Given the description of an element on the screen output the (x, y) to click on. 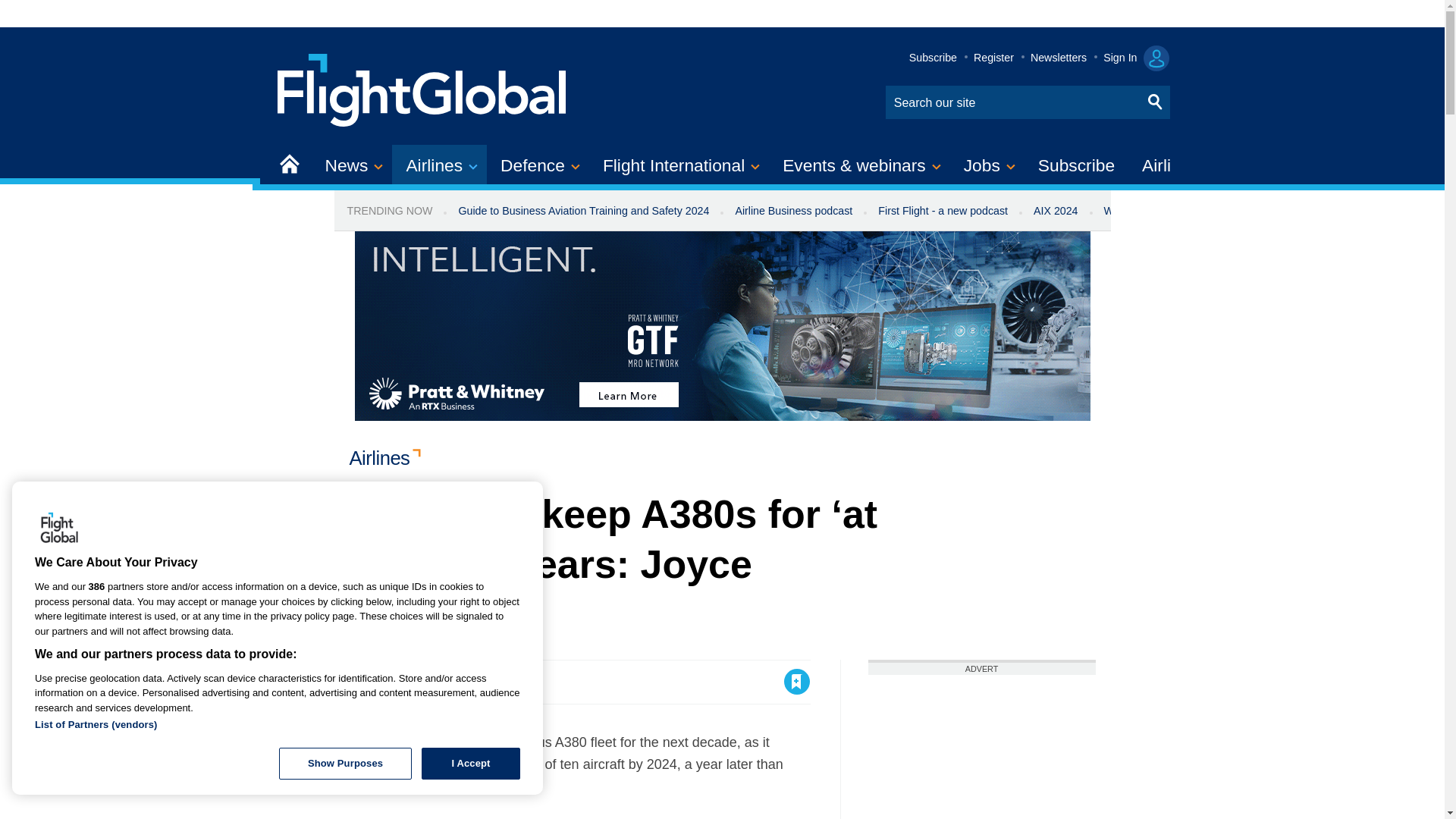
Email this article (460, 681)
Site name (422, 88)
AIX 2024 (1055, 210)
First Flight - a new podcast (942, 210)
Airline Business podcast (793, 210)
3rd party ad content (980, 746)
Guide to Business Aviation Training and Safety 2024 (583, 210)
Share this on Twitter (395, 681)
Share this on Facebook (362, 681)
Women in Aviation (1147, 210)
Share this on Linked in (427, 681)
